Given the description of an element on the screen output the (x, y) to click on. 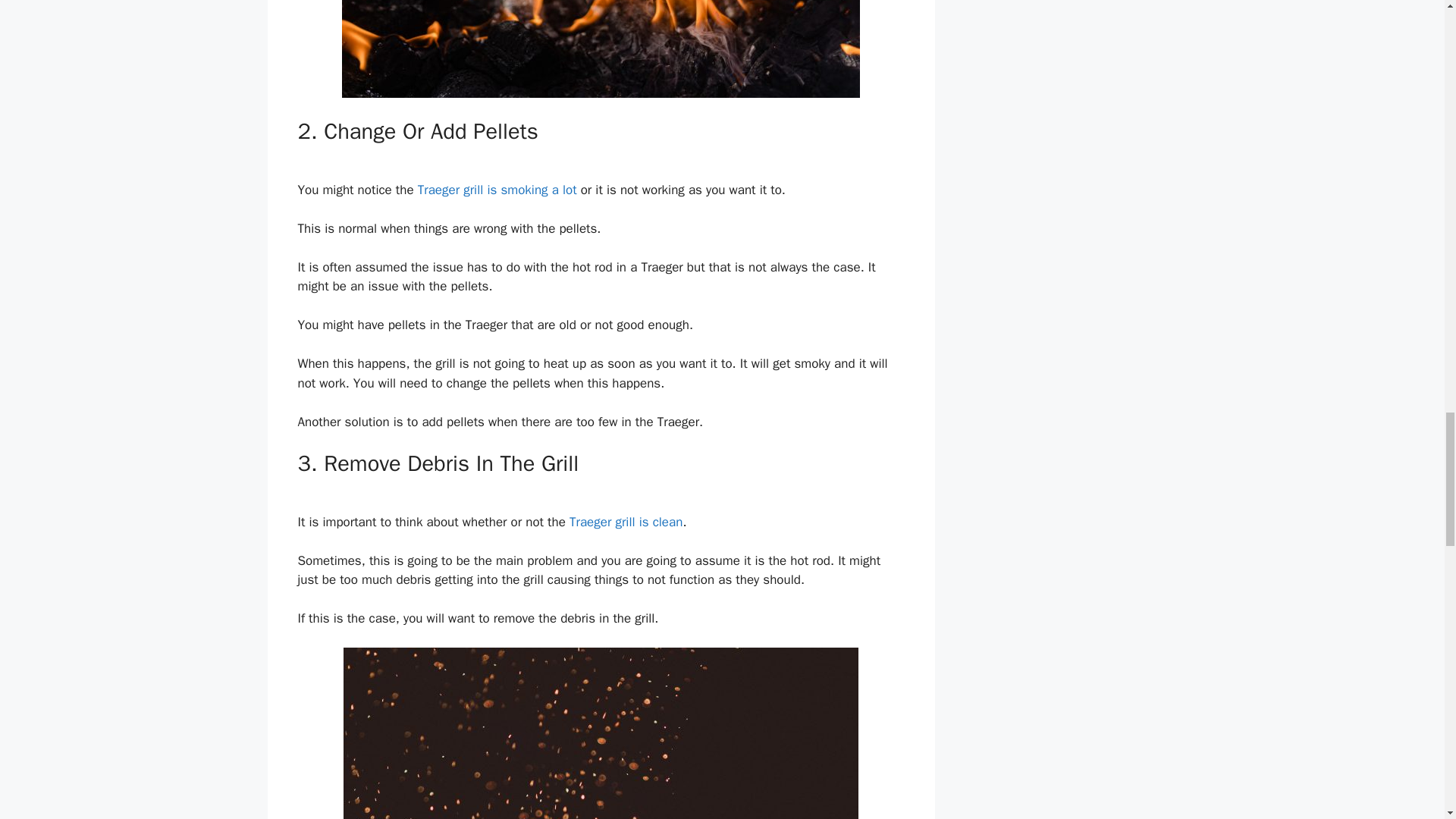
Traeger grill is smoking a lot (496, 189)
Traeger grill is clean (625, 521)
